Given the description of an element on the screen output the (x, y) to click on. 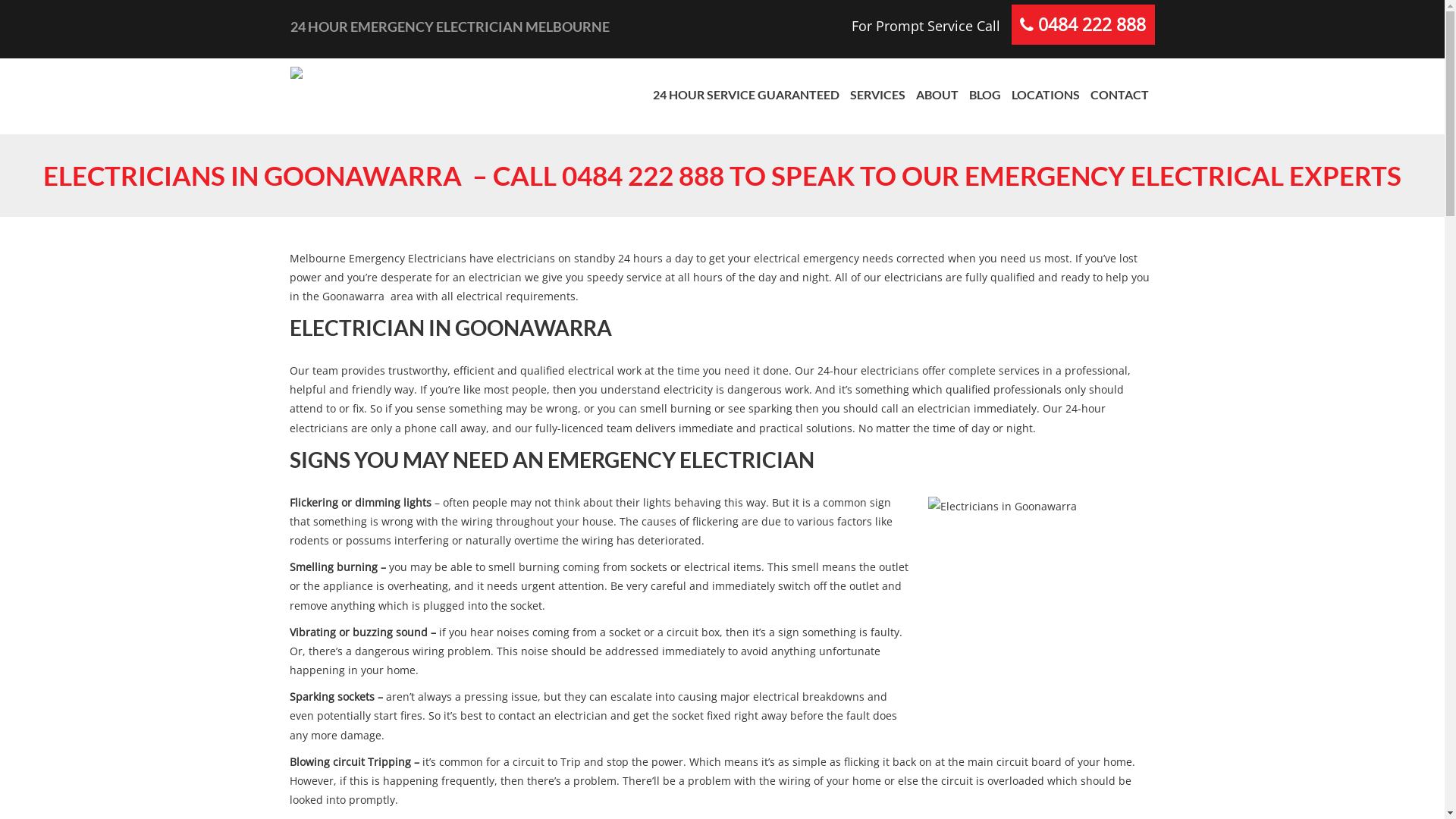
0484 222 888 Element type: text (1091, 24)
24 HOUR EMERGENCY ELECTRICIAN MELBOURNE Element type: text (499, 27)
LOCATIONS Element type: text (1044, 94)
24 HOUR SERVICE GUARANTEED Element type: text (745, 94)
CONTACT Element type: text (1118, 94)
BLOG Element type: text (984, 94)
ABOUT Element type: text (936, 94)
SERVICES Element type: text (877, 94)
